Given the description of an element on the screen output the (x, y) to click on. 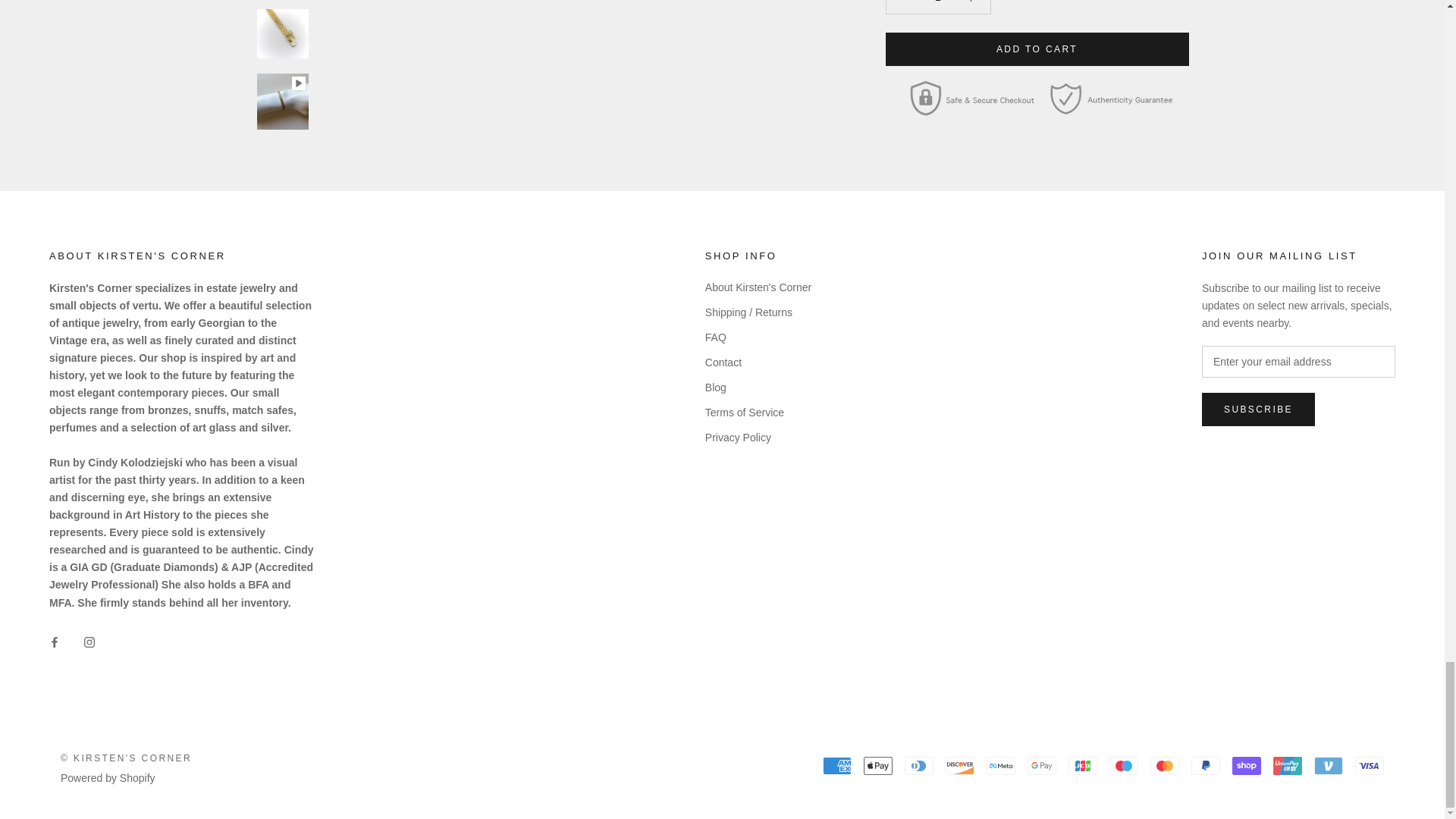
JCB (1082, 765)
Apple Pay (877, 765)
Google Pay (1042, 765)
Diners Club (918, 765)
Discover (959, 765)
Maestro (1123, 765)
Meta Pay (1000, 765)
American Express (836, 765)
Mastercard (1164, 765)
PayPal (1205, 765)
